Given the description of an element on the screen output the (x, y) to click on. 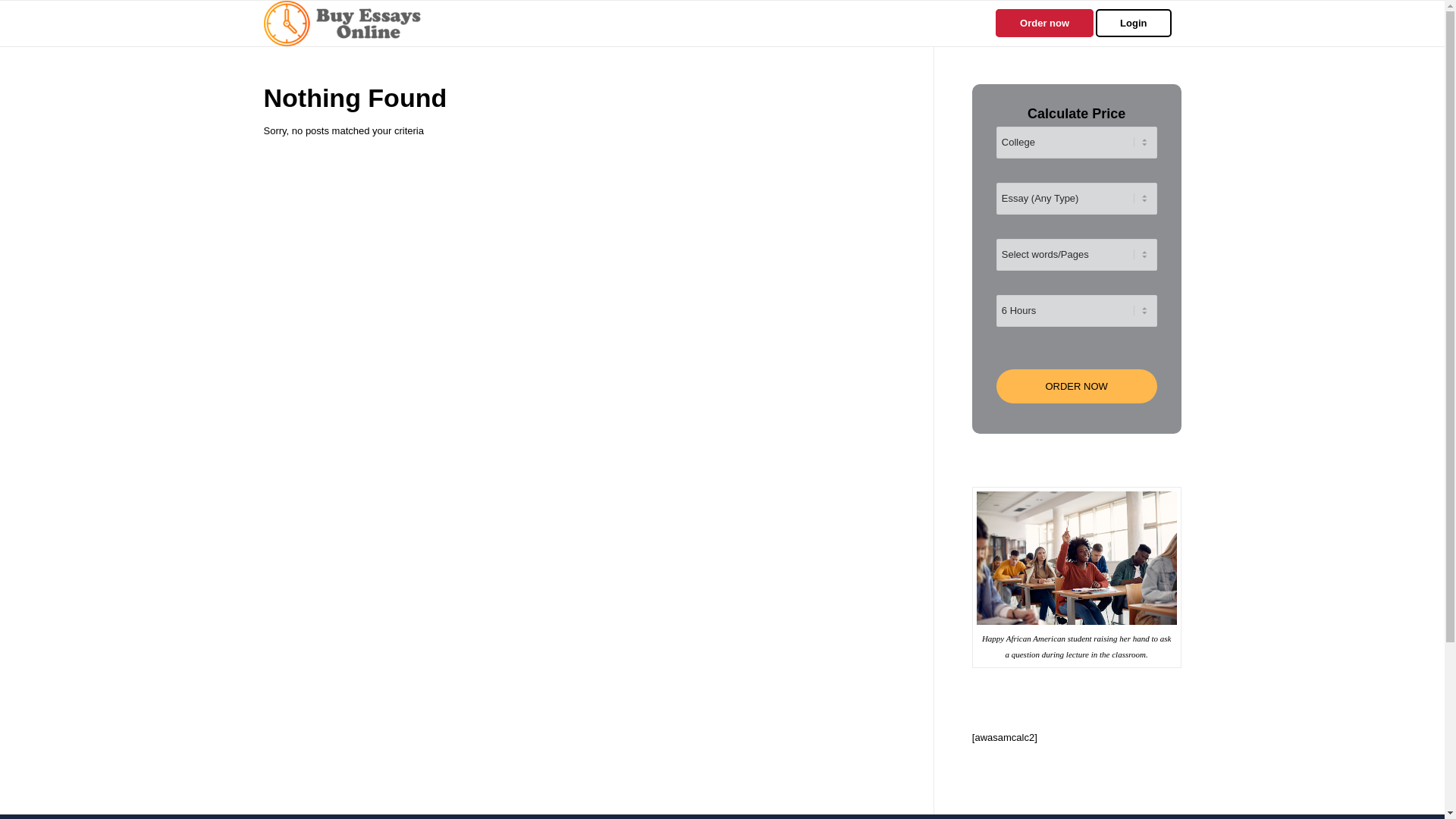
Login (1138, 22)
Order now (1044, 22)
ORDER NOW (1076, 386)
